Given the description of an element on the screen output the (x, y) to click on. 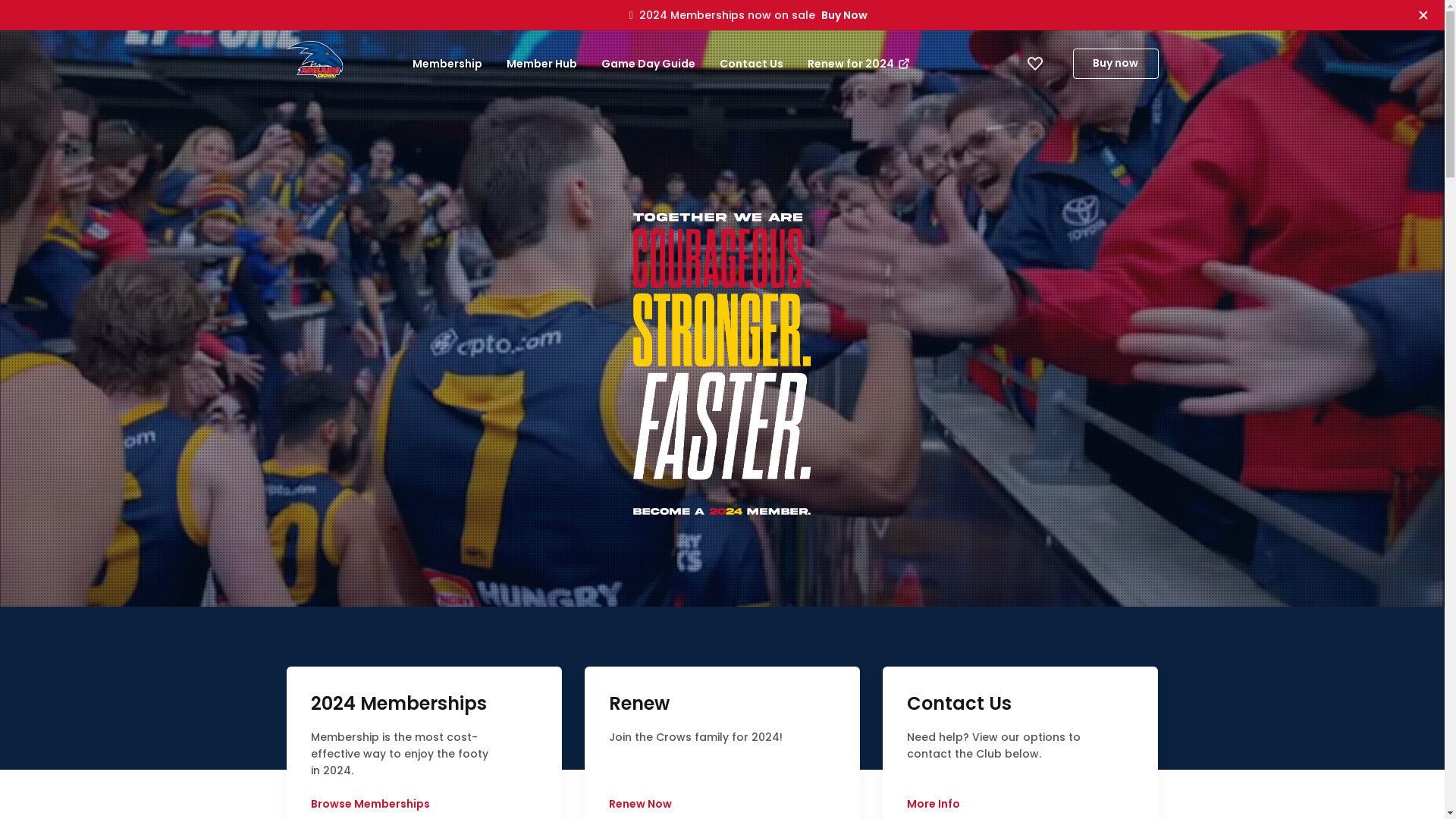
Contact Us Element type: text (750, 64)
Buy Now Element type: text (844, 15)
Membership Element type: text (447, 64)
Member Hub Element type: text (541, 64)
Game Day Guide Element type: text (647, 64)
Renew for 2024 Element type: text (858, 64)
Buy now Element type: text (1114, 63)
